Given the description of an element on the screen output the (x, y) to click on. 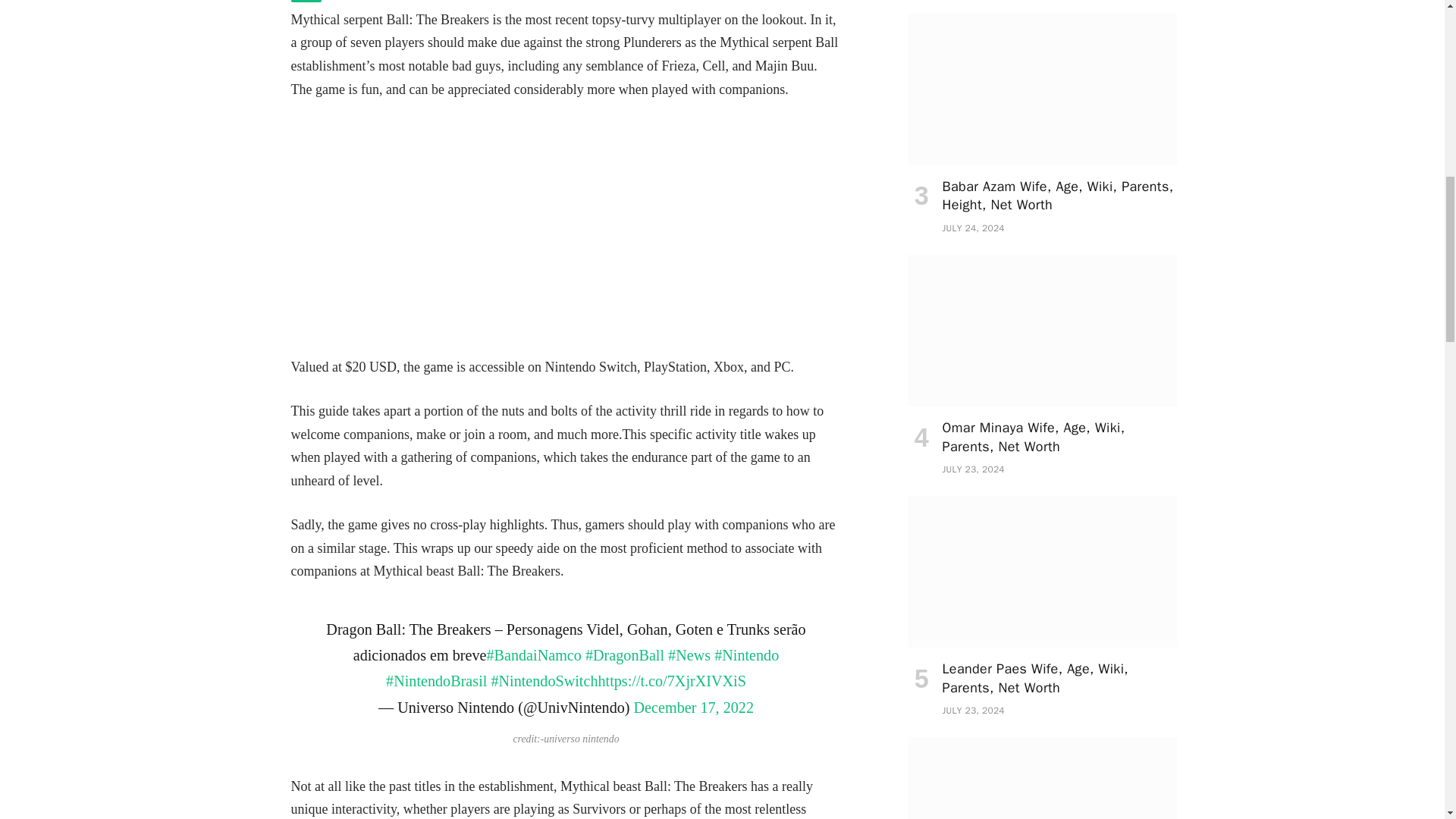
X (306, 1)
